Given the description of an element on the screen output the (x, y) to click on. 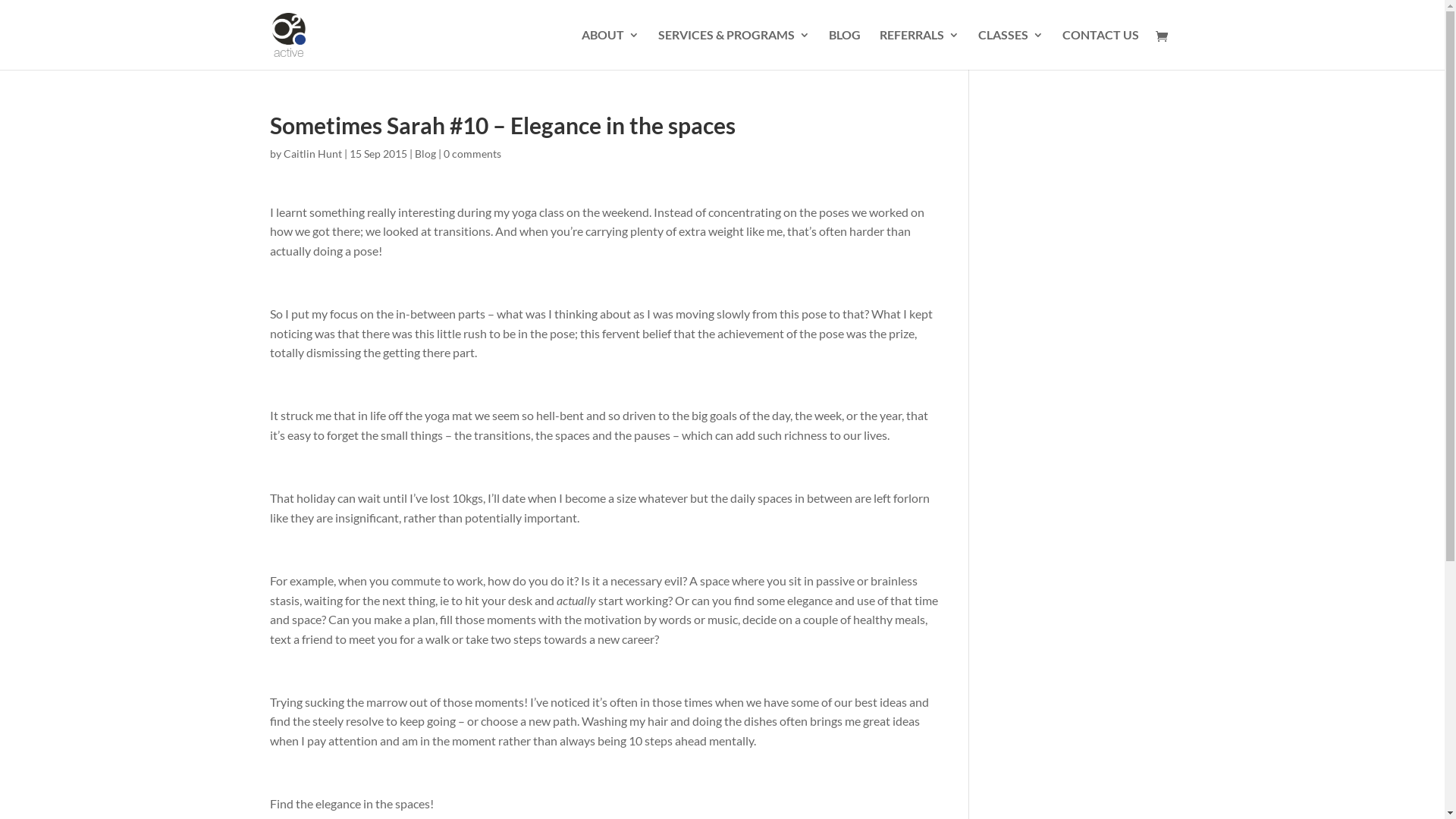
CLASSES Element type: text (1010, 49)
SERVICES & PROGRAMS Element type: text (733, 49)
REFERRALS Element type: text (919, 49)
CONTACT US Element type: text (1099, 49)
Caitlin Hunt Element type: text (312, 153)
0 comments Element type: text (471, 153)
Blog Element type: text (424, 153)
BLOG Element type: text (843, 49)
ABOUT Element type: text (609, 49)
